Given the description of an element on the screen output the (x, y) to click on. 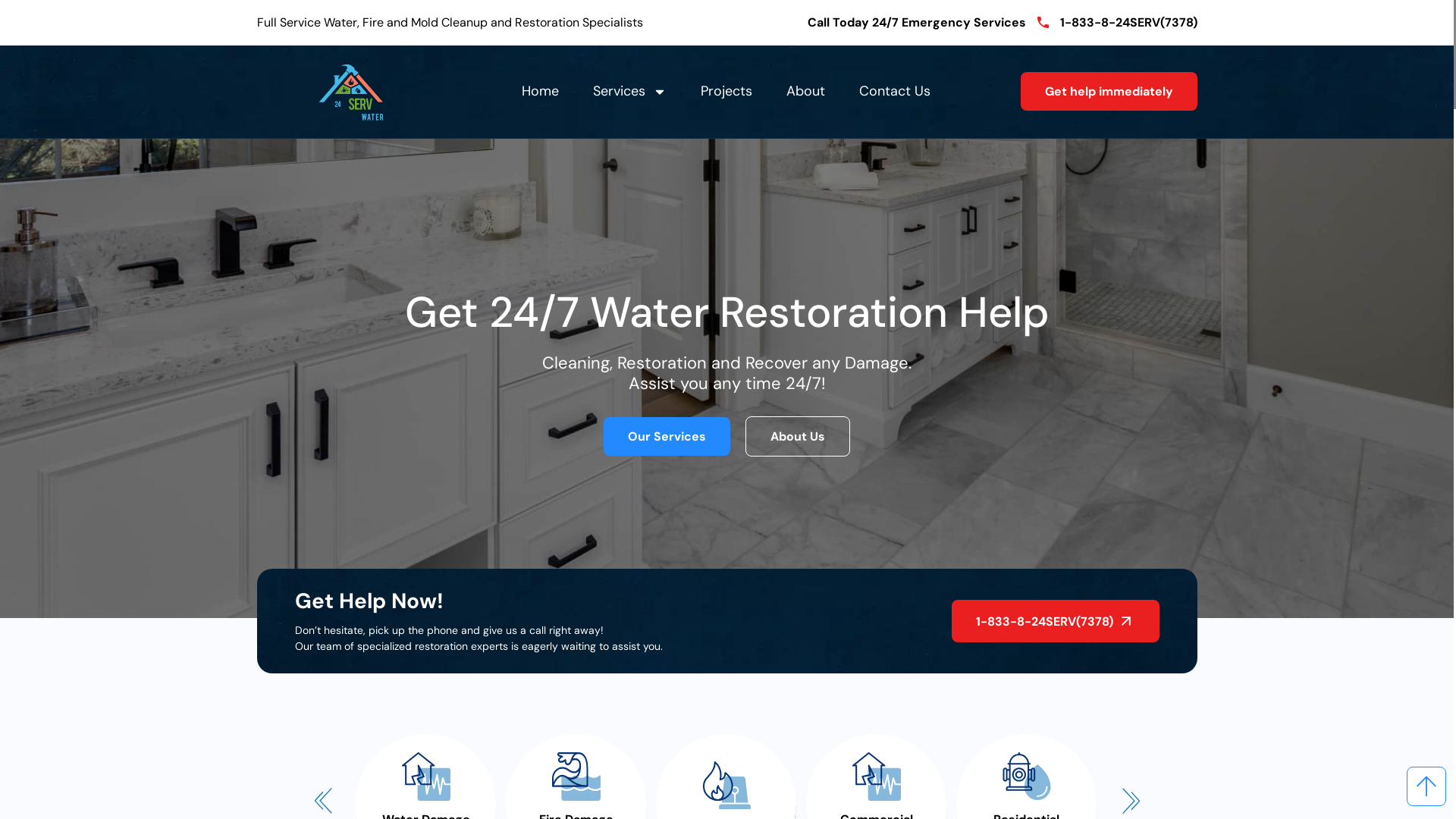
Projects Element type: text (726, 91)
About Us Element type: text (797, 436)
Contact Us Element type: text (893, 91)
Our Services Element type: text (666, 436)
Home Element type: text (539, 91)
Get help immediately Element type: text (1108, 91)
About Element type: text (804, 91)
1-833-8-24SERV(7378) Element type: text (1054, 620)
Services Element type: text (629, 91)
1-833-8-24SERV(7378) Element type: text (1117, 22)
